Given the description of an element on the screen output the (x, y) to click on. 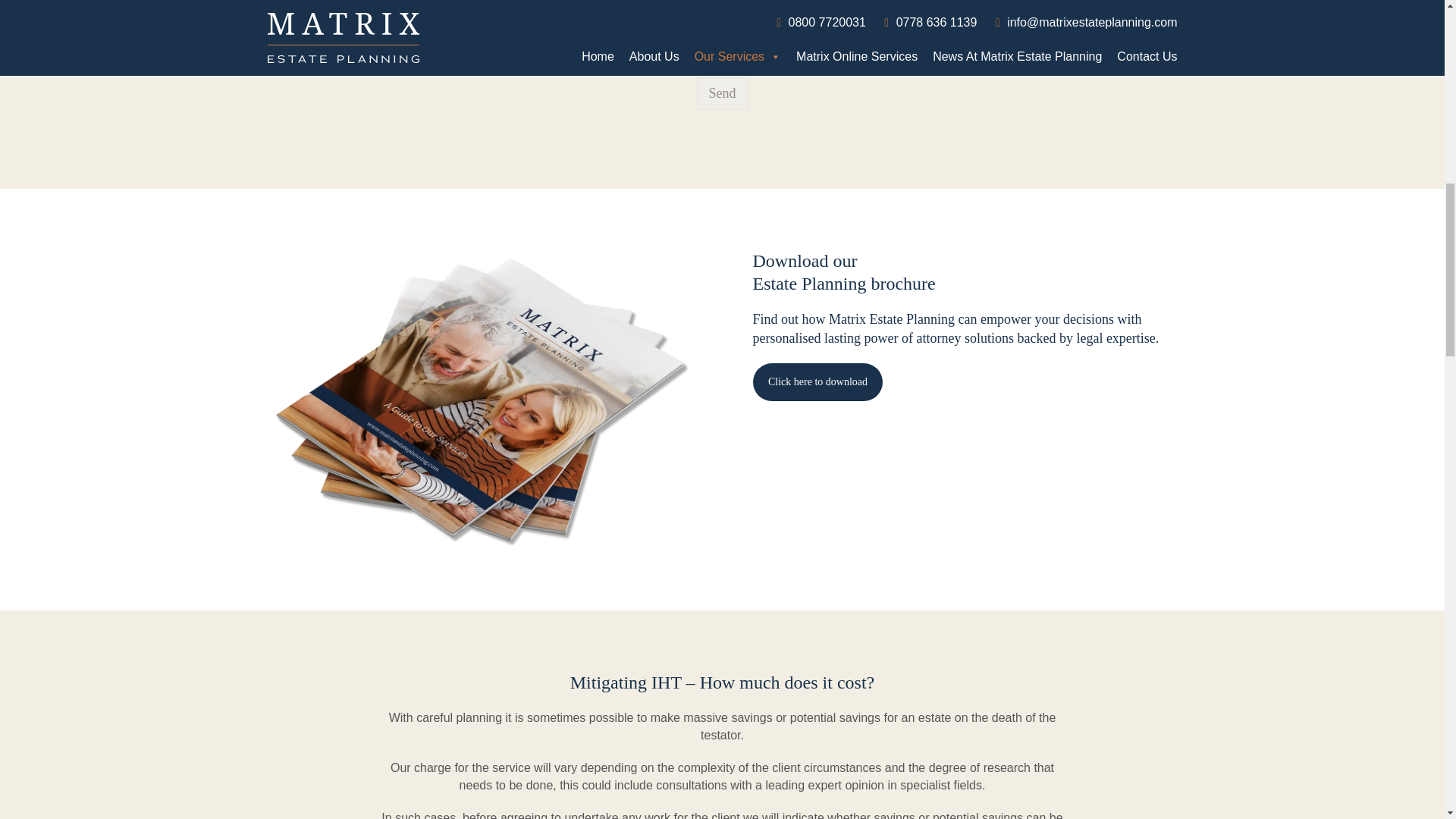
Send (721, 92)
Click here to download (817, 382)
